Given the description of an element on the screen output the (x, y) to click on. 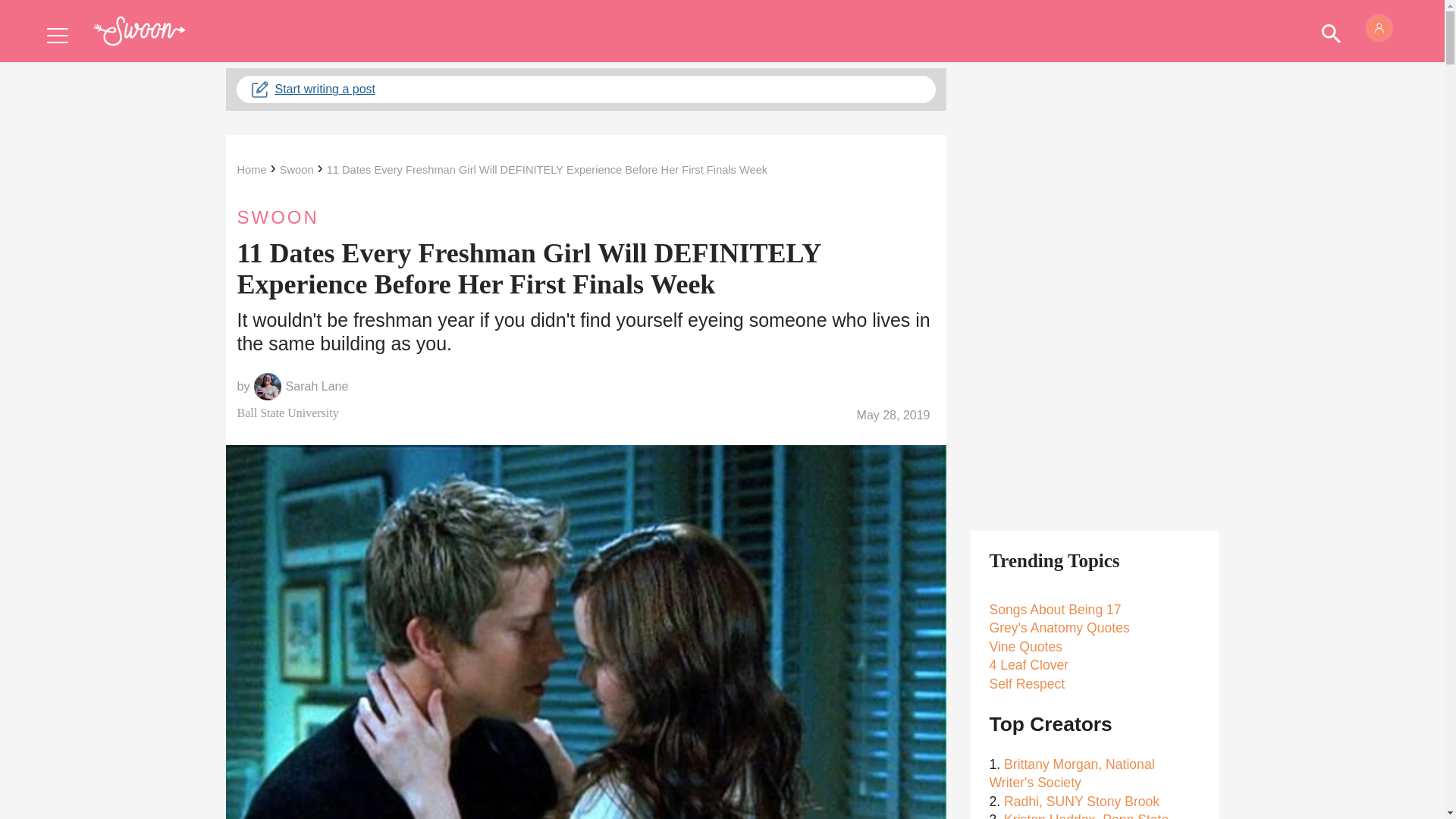
Sarah Lane (317, 386)
Start writing a post (585, 89)
Home (250, 169)
Swoon (296, 169)
SWOON (584, 217)
